Given the description of an element on the screen output the (x, y) to click on. 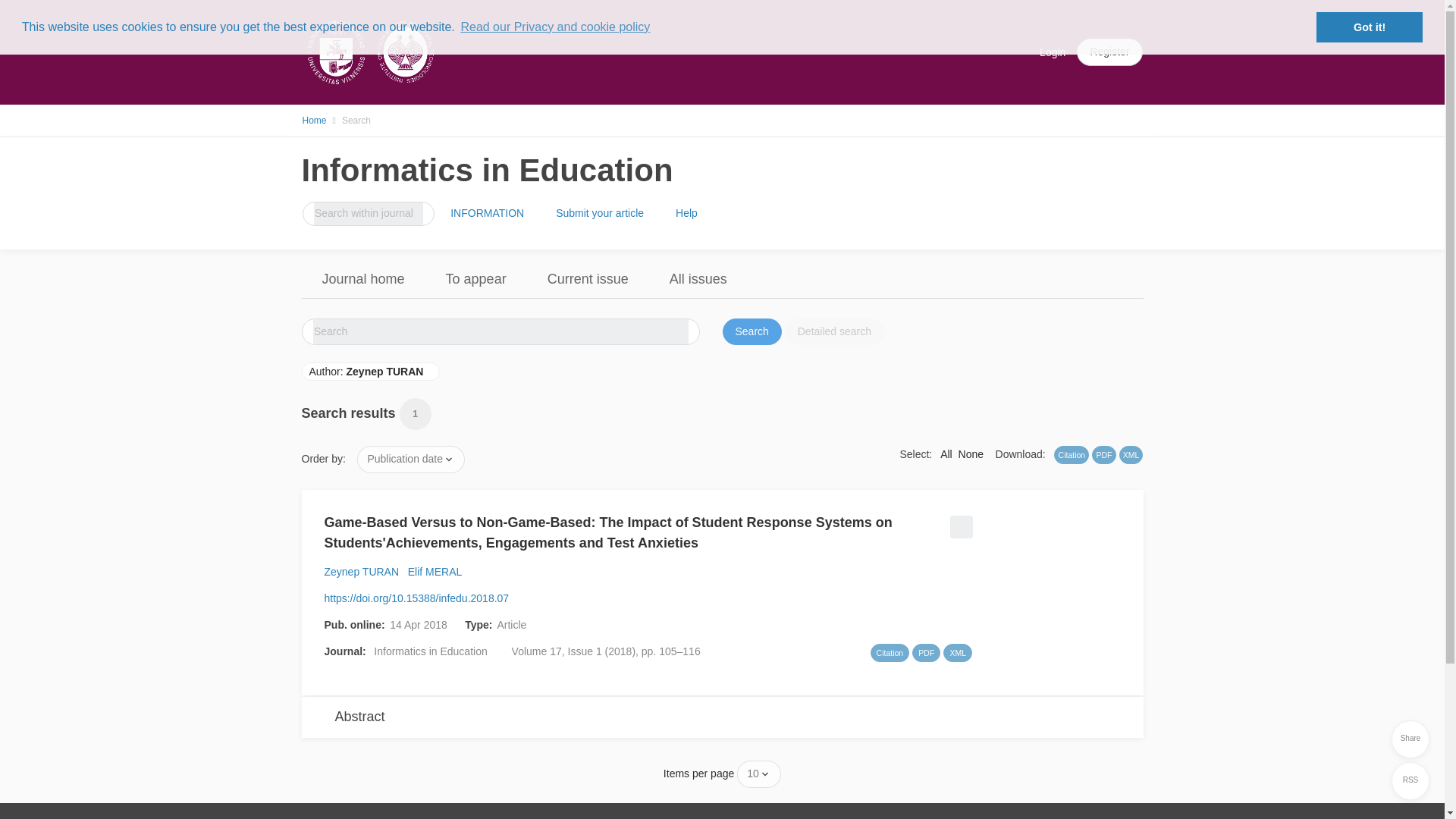
None (971, 453)
PDF (1103, 454)
Reset selection (971, 453)
Export multiple articles PDF files (1103, 454)
All (946, 453)
Download XML (957, 652)
All issues (698, 279)
Search for more publications by the author (434, 571)
Download PDF (926, 652)
Elif MERAL (434, 571)
Login (1052, 52)
Export multiple articles XML files (1130, 454)
Get article citation (890, 652)
Select article (959, 521)
Search for more publications by the author (361, 571)
